Given the description of an element on the screen output the (x, y) to click on. 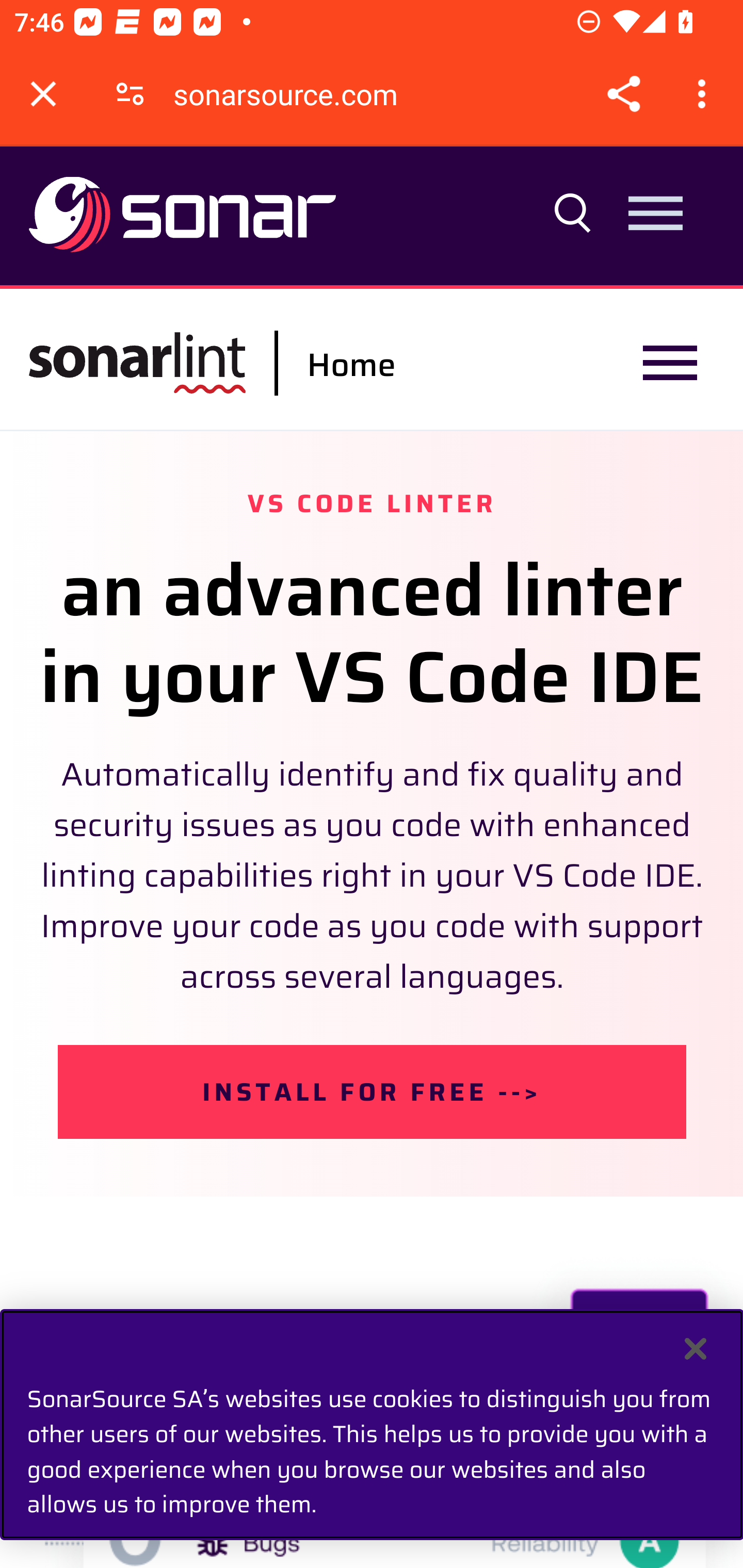
Close tab (43, 93)
Share (623, 93)
Customize and control Google Chrome (705, 93)
Connection is secure (129, 93)
sonarsource.com (293, 93)
Sonar Logo (182, 215)
SonarLint (136, 362)
Mobile menu toggle button (670, 362)
Features (371, 495)
What's new (371, 587)
Roadmap (371, 682)
INSTALL FOR FREE --> INSTALL FOR FREE  --> (372, 1090)
Close (695, 1348)
